Given the description of an element on the screen output the (x, y) to click on. 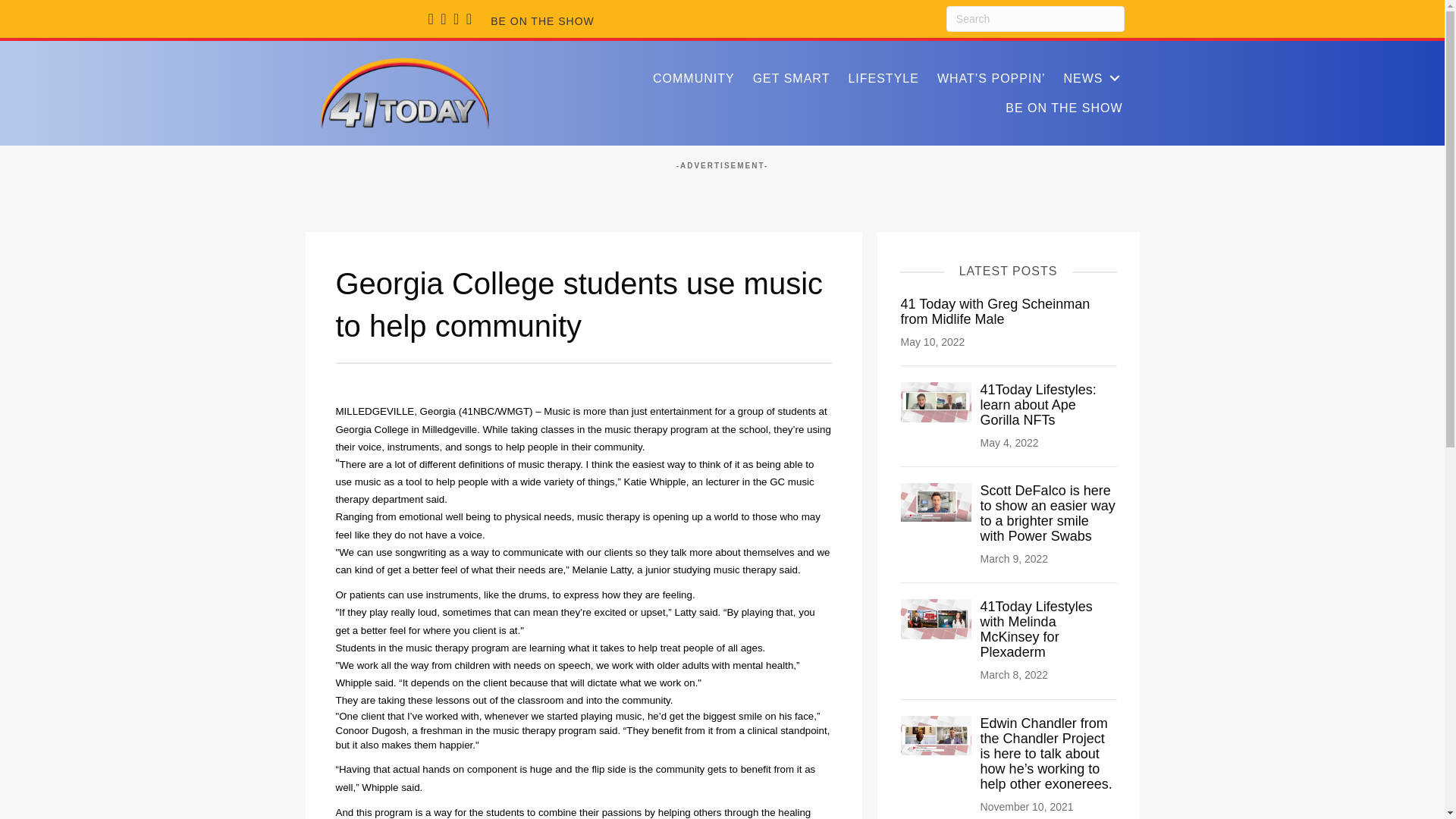
NEWS (1092, 78)
41 Today with Greg Scheinman from Midlife Male (995, 310)
41Today Lifestyles: learn about Ape Gorilla NFTs (1037, 404)
Type and press Enter to search. (1035, 18)
41Today Lifestyles with Melinda McKinsey for Plexaderm (1036, 629)
GET SMART (792, 78)
41Today Lifestyles with Melinda McKinsey for Plexaderm (1036, 629)
41 Today with Greg Scheinman from Midlife Male (995, 310)
LIFESTYLE (882, 78)
BE ON THE SHOW (542, 21)
BE ON THE SHOW (1063, 107)
COMMUNITY (693, 78)
41Today Lifestyles: learn about Ape Gorilla NFTs (936, 400)
